Given the description of an element on the screen output the (x, y) to click on. 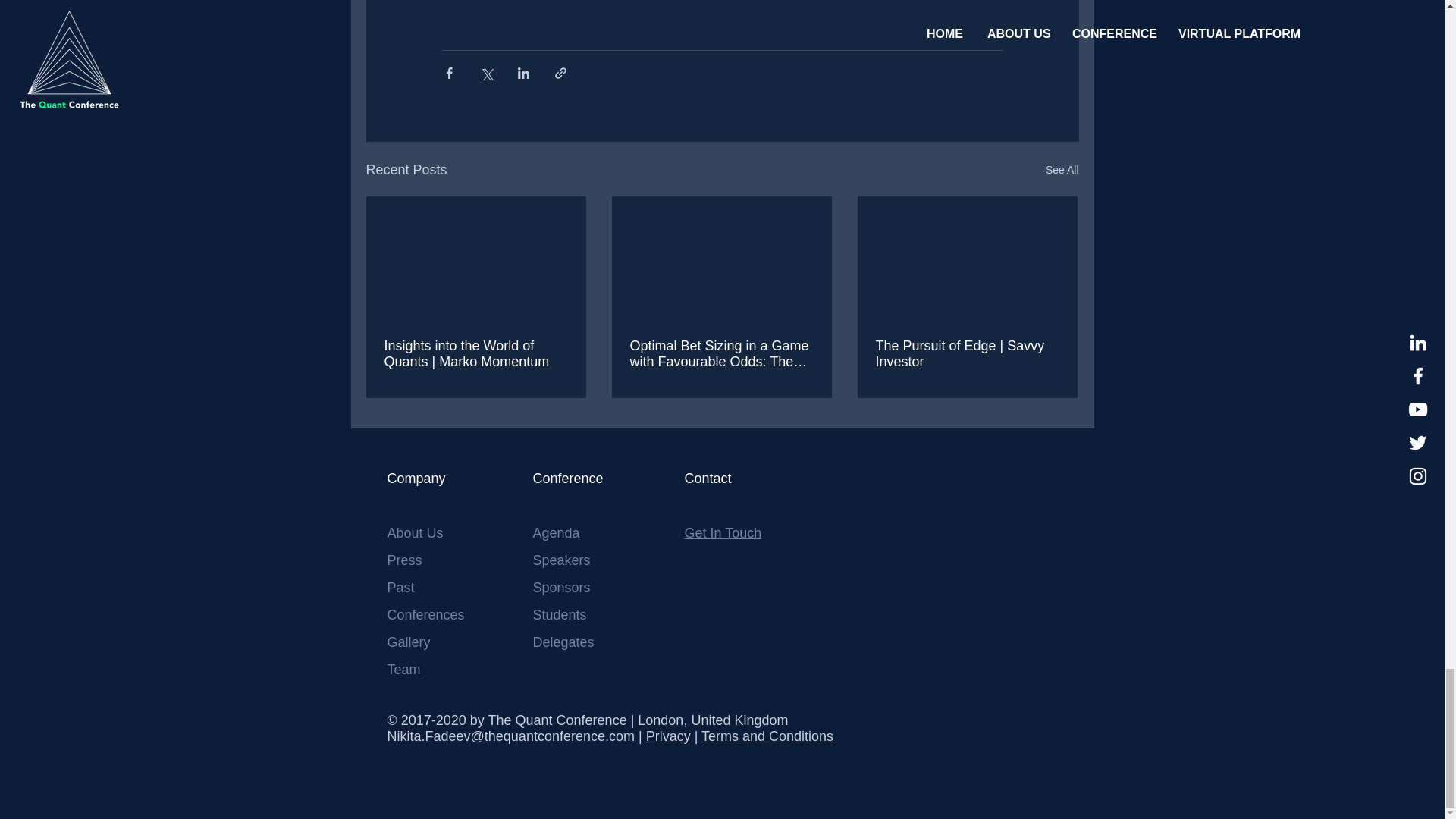
See All (1061, 169)
